Given the description of an element on the screen output the (x, y) to click on. 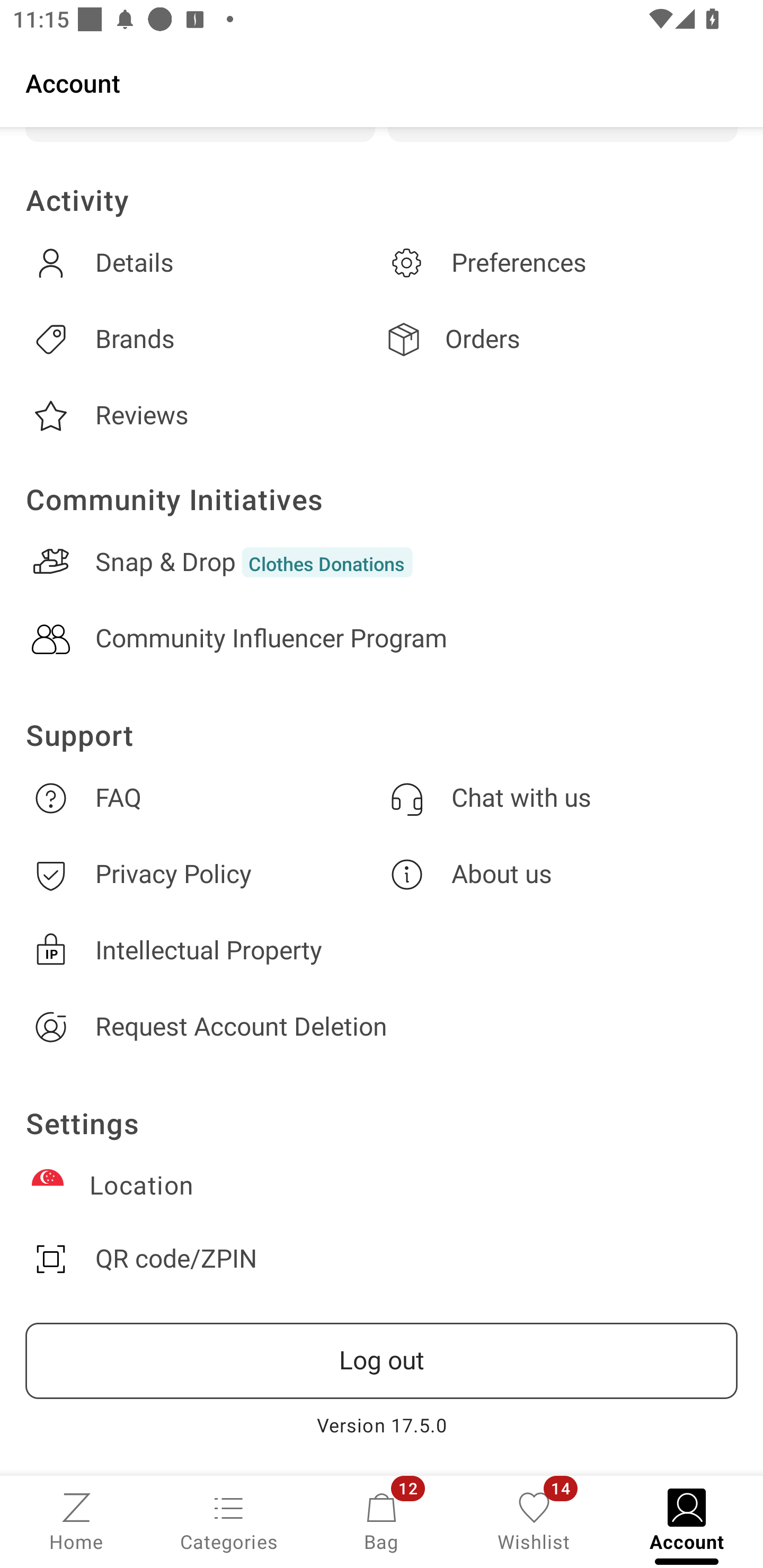
Account (381, 82)
Details (203, 263)
Preferences (559, 263)
Brands (203, 339)
Orders (559, 339)
Reviews (203, 415)
Snap & DropClothes Donations (381, 561)
Community Influencer Program (381, 638)
FAQ (203, 797)
Chat with us (559, 797)
Privacy Policy (203, 873)
About us (559, 873)
Intellectual Property (381, 950)
Request Account Deletion (381, 1026)
QR code/ZPIN (381, 1258)
Log out (381, 1360)
Home (76, 1519)
Categories (228, 1519)
Bag, 12 new notifications Bag (381, 1519)
Wishlist, 14 new notifications Wishlist (533, 1519)
